Given the description of an element on the screen output the (x, y) to click on. 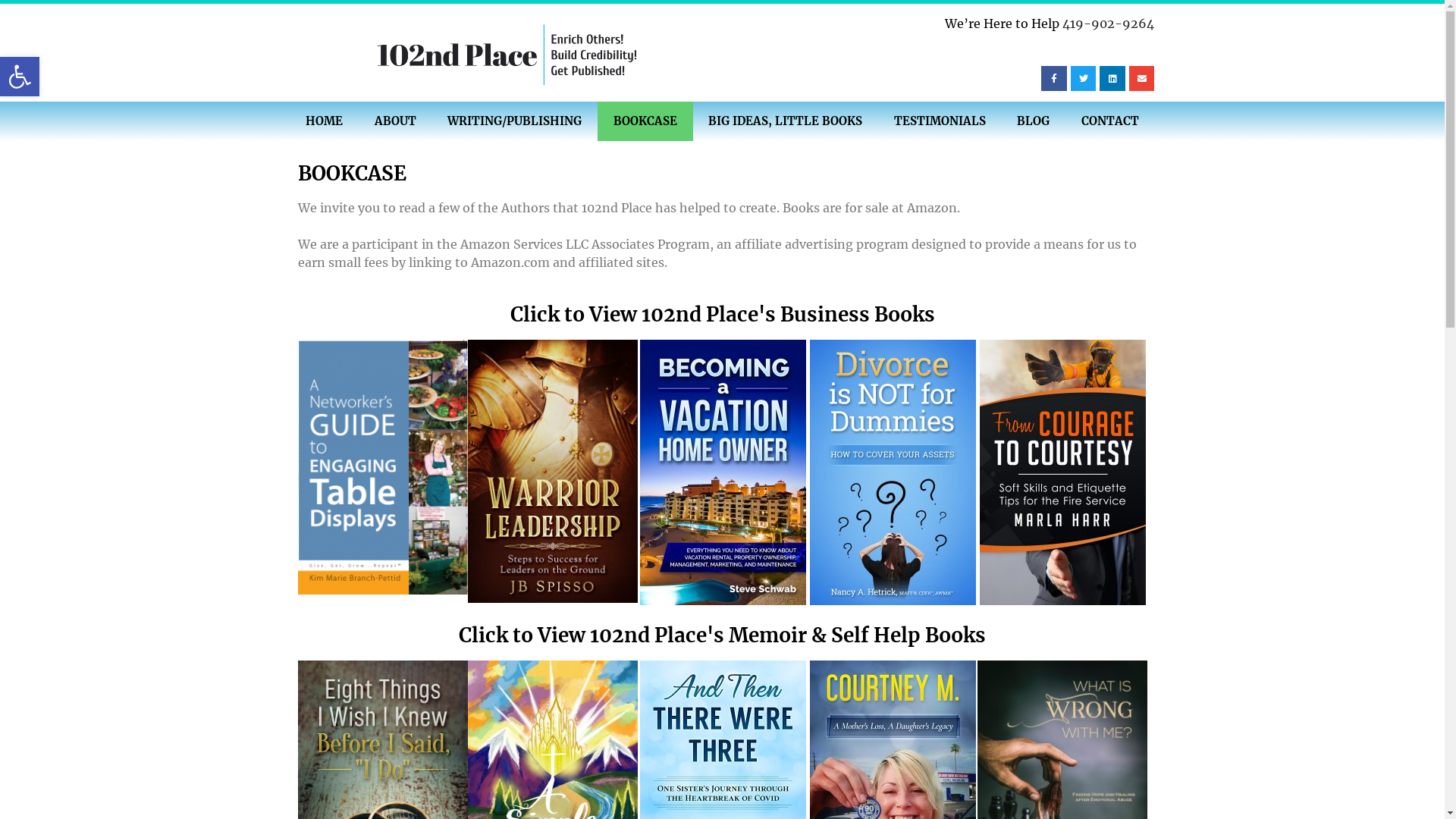
CONTACT Element type: text (1109, 121)
Open toolbar
Accessibility Tools Element type: text (19, 76)
HOME Element type: text (323, 121)
ABOUT Element type: text (395, 121)
WRITING/PUBLISHING Element type: text (515, 121)
Click to View 102nd Place's Business Books Element type: text (721, 313)
BIG IDEAS, LITTLE BOOKS Element type: text (785, 121)
Click to View 102nd Place's Memoir & Self Help Books Element type: text (721, 634)
BLOG Element type: text (1033, 121)
TESTIMONIALS Element type: text (939, 121)
419-902-9264 Element type: text (1108, 23)
BOOKCASE Element type: text (645, 121)
